Given the description of an element on the screen output the (x, y) to click on. 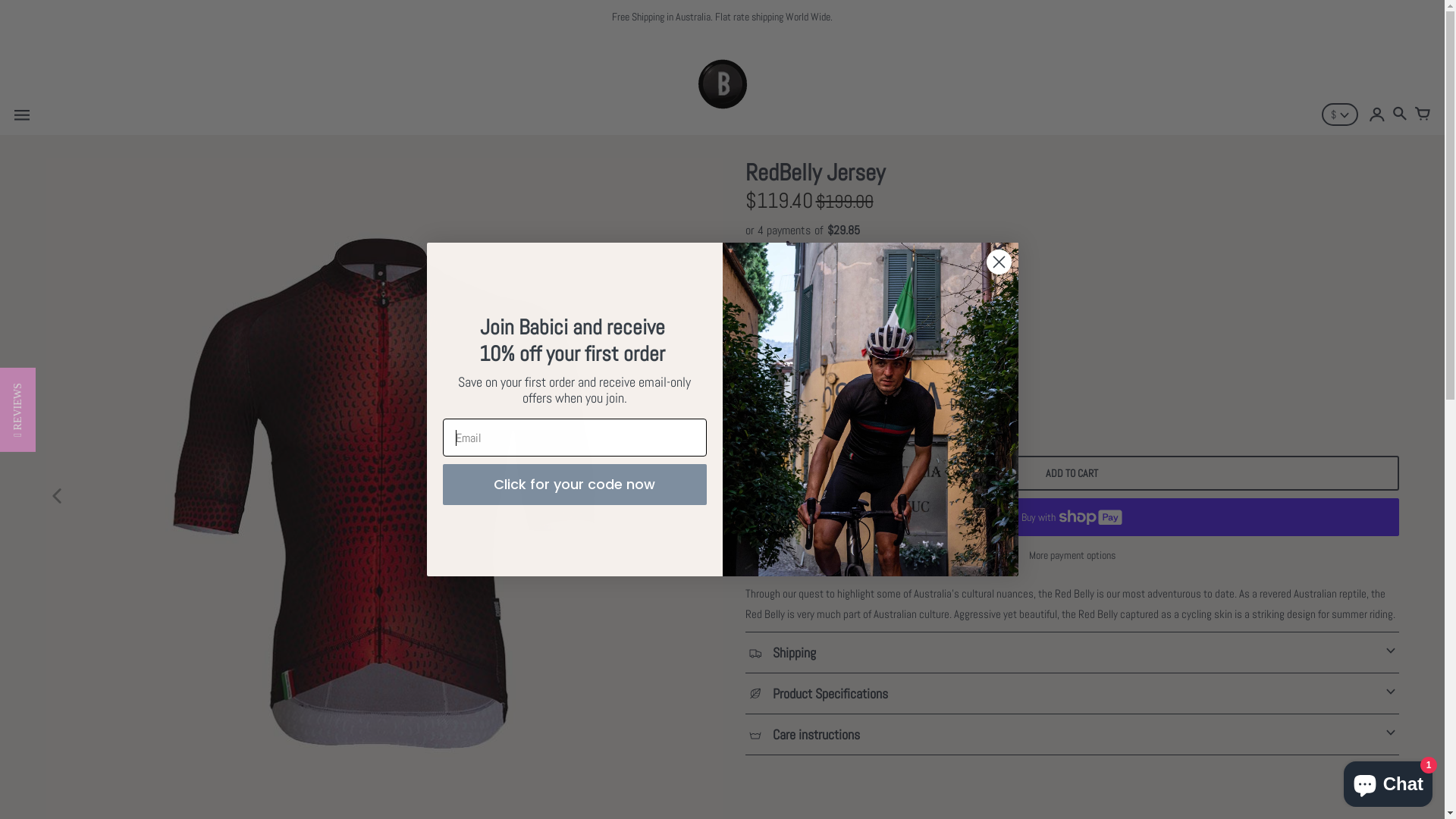
Babici. Premium quality cycling clothing and apparel Element type: hover (869, 409)
$ Element type: text (1339, 114)
More payment options Element type: text (1071, 527)
Close dialog 1 Element type: text (998, 261)
ADD TO CART Element type: text (1071, 445)
Click for your code now Element type: text (574, 484)
Shopify online store chat Element type: hover (1388, 780)
Submit Element type: text (17, 9)
Free Shipping in Australia. Flat rate shipping World Wide. Element type: text (722, 16)
